Given the description of an element on the screen output the (x, y) to click on. 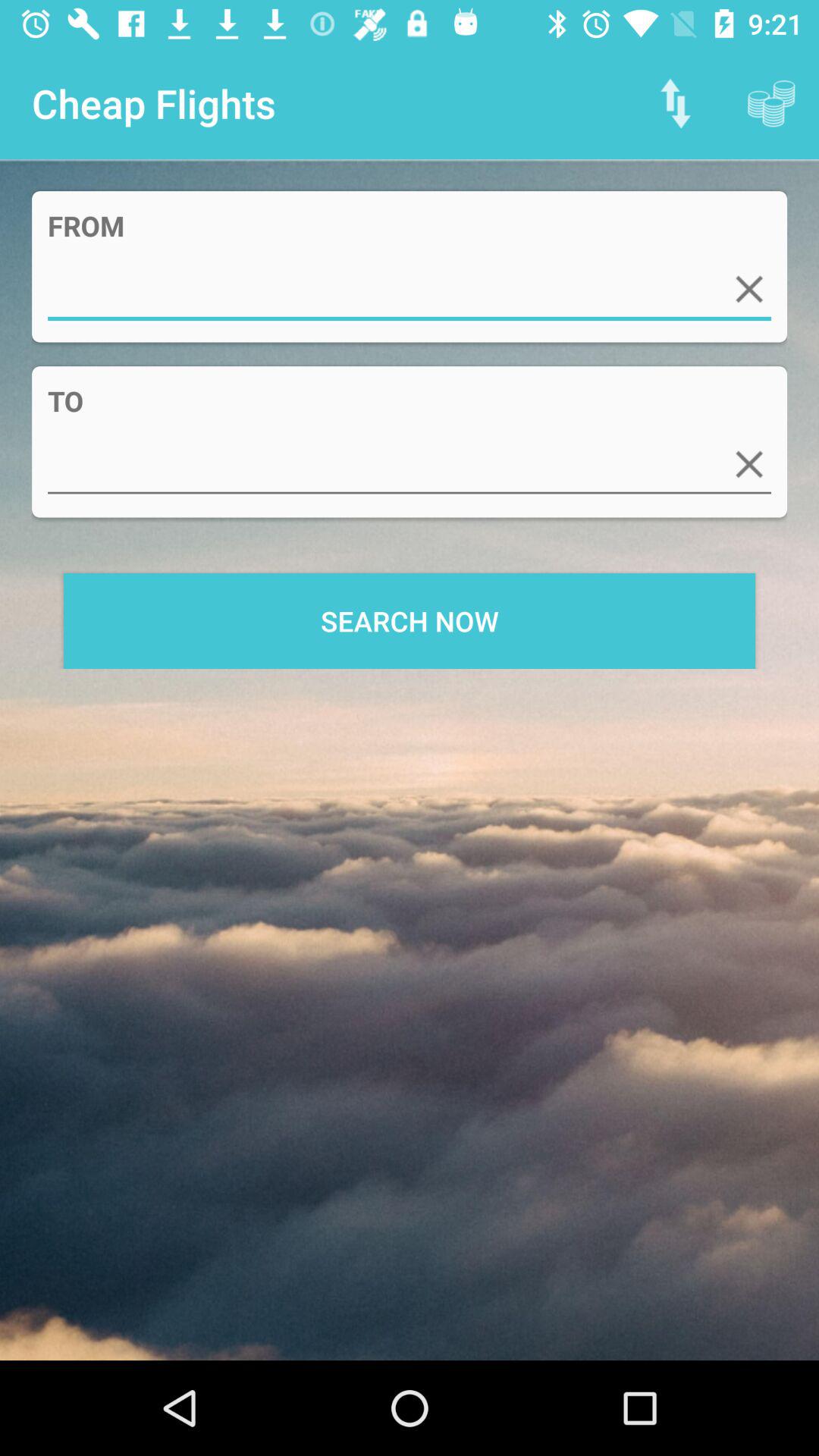
open icon above search now (409, 464)
